Given the description of an element on the screen output the (x, y) to click on. 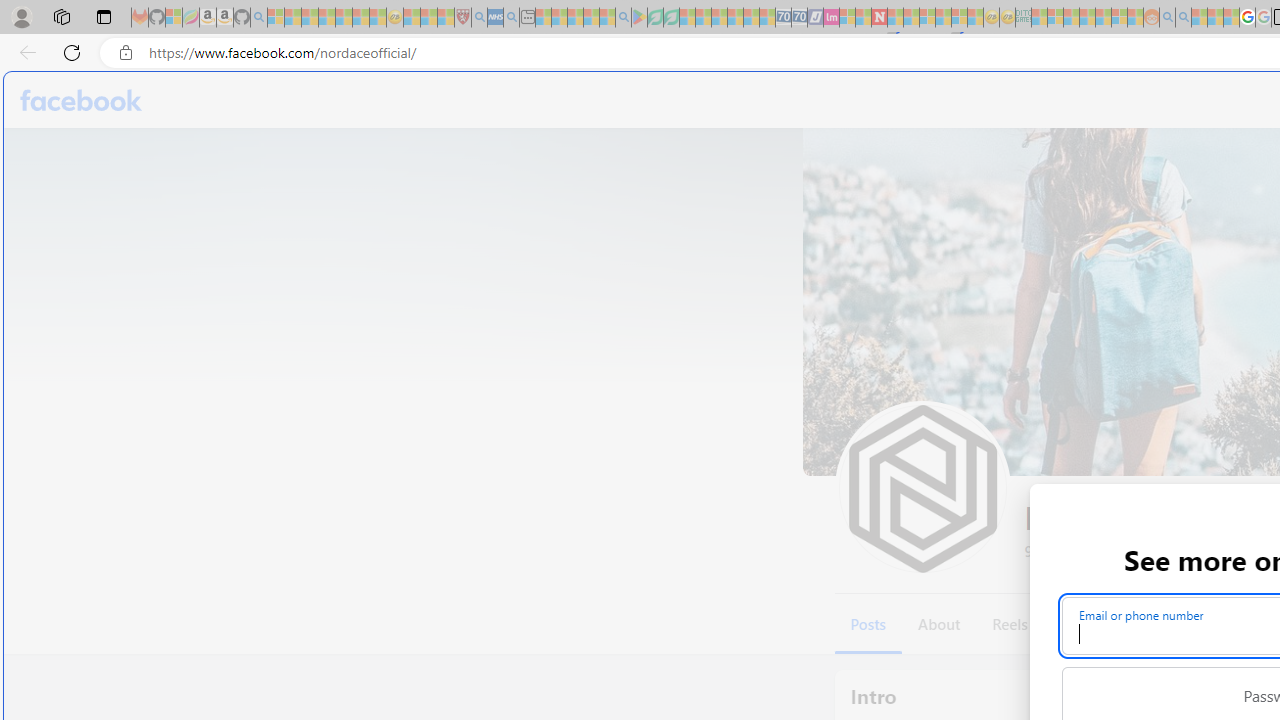
google - Search - Sleeping (623, 17)
Local - MSN - Sleeping (445, 17)
Kinda Frugal - MSN - Sleeping (1103, 17)
The Weather Channel - MSN - Sleeping (309, 17)
Jobs - lastminute.com Investor Portal - Sleeping (831, 17)
MSNBC - MSN - Sleeping (1039, 17)
Facebook (81, 99)
Latest Politics News & Archive | Newsweek.com - Sleeping (879, 17)
